Given the description of an element on the screen output the (x, y) to click on. 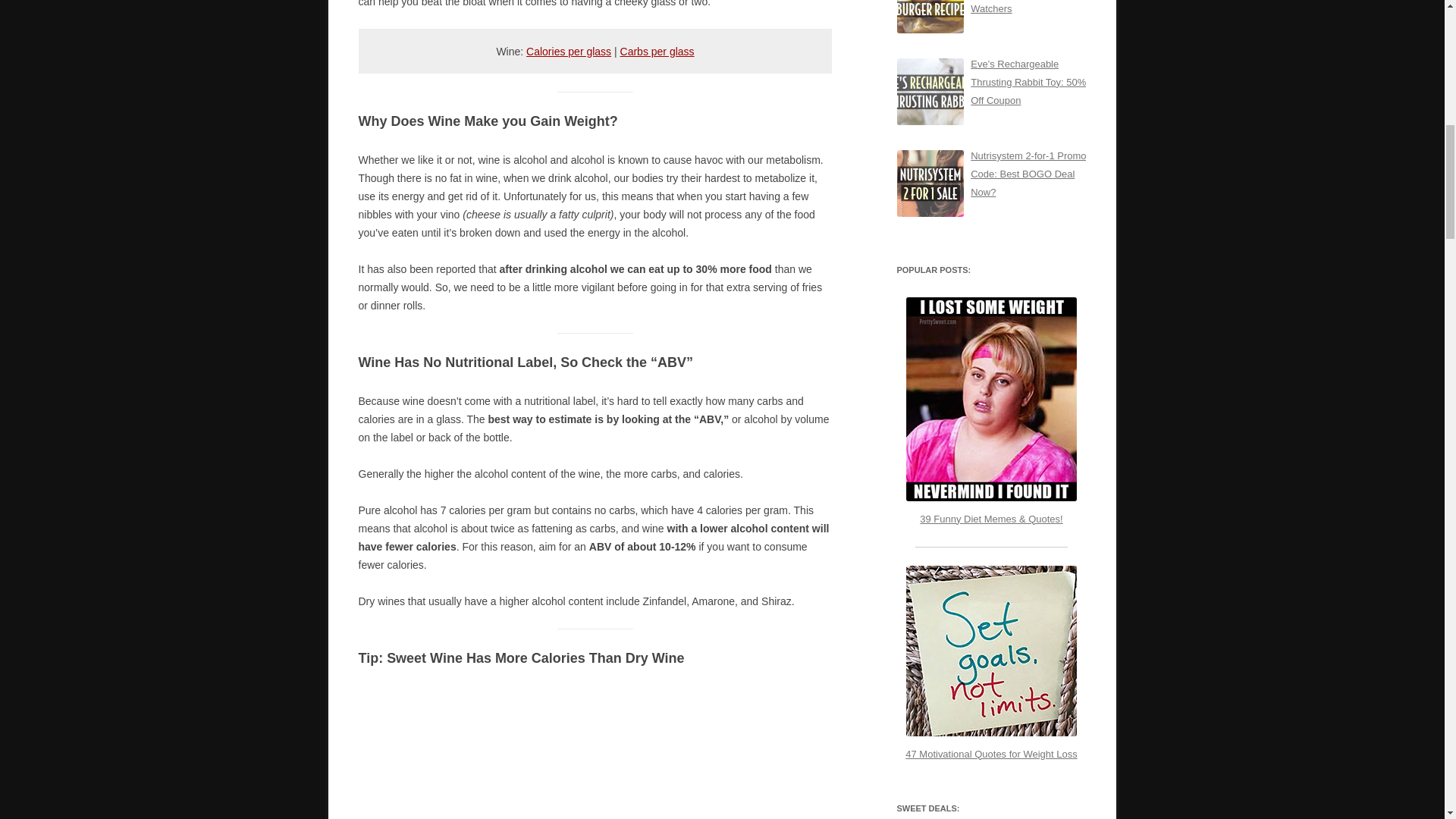
Carbs per glass (657, 51)
Turkey Smash Burger Recipe from Weight Watchers (1018, 7)
Nutrisystem 2-for-1 Promo Code: Best BOGO Deal Now? (1028, 173)
Calories per glass (568, 51)
47 Motivational Quotes for Weight Loss (991, 662)
